Given the description of an element on the screen output the (x, y) to click on. 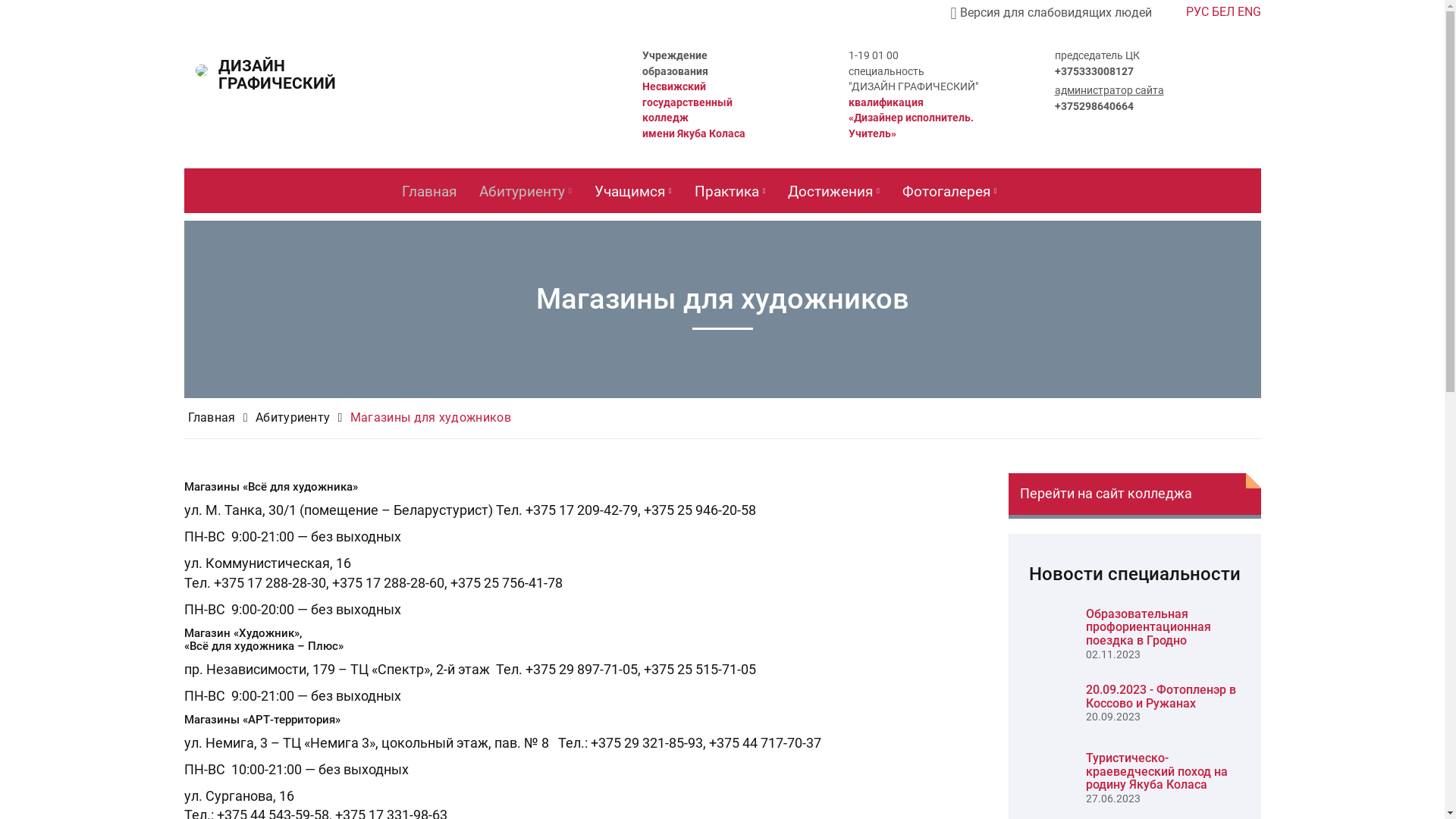
ENG Element type: text (1249, 11)
